Given the description of an element on the screen output the (x, y) to click on. 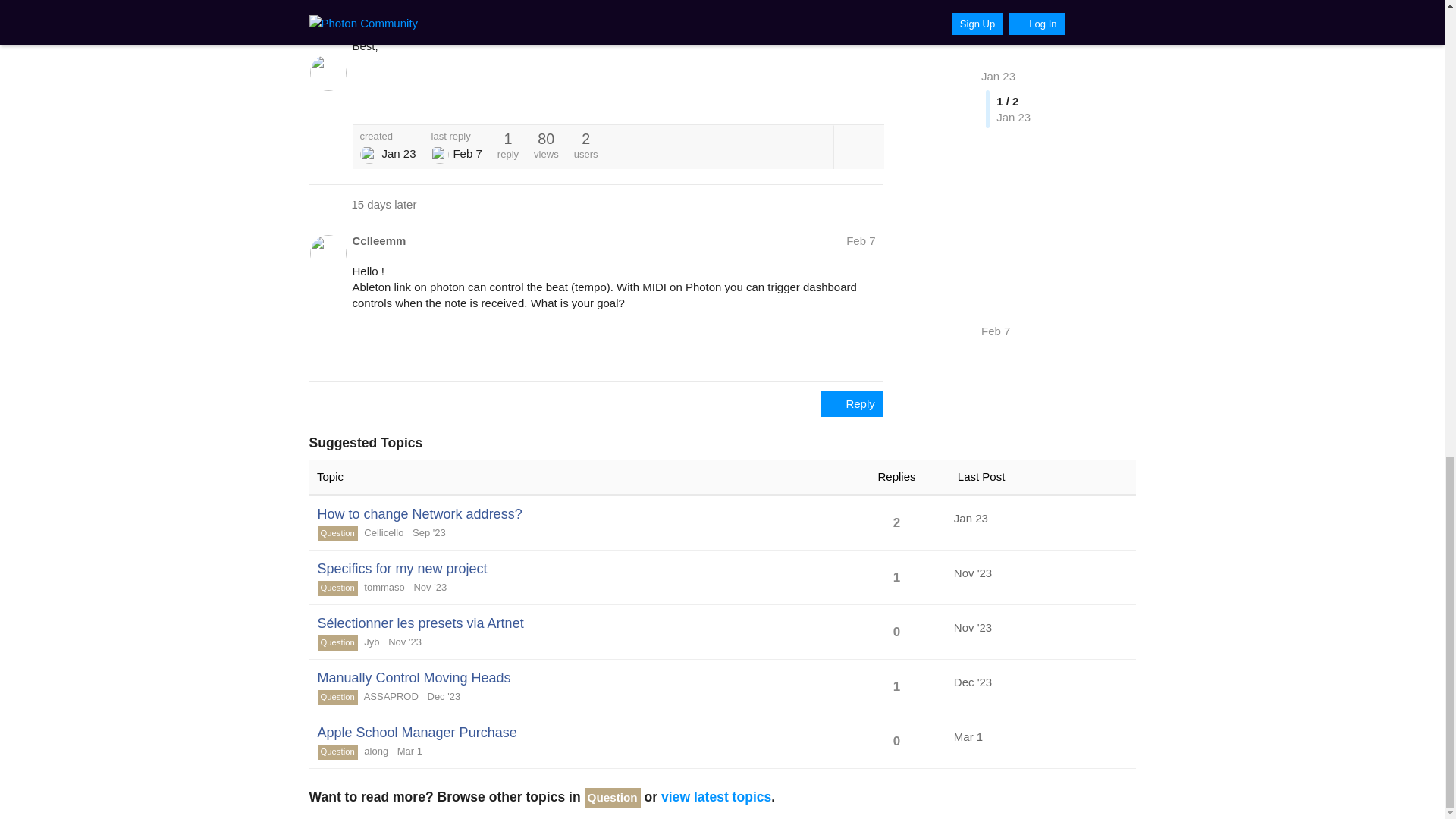
Question (336, 533)
Robin (368, 154)
like this post (836, 95)
Specifics for my new project (401, 568)
Feb 7 (860, 240)
How to change Network address? (419, 514)
share a link to this post (869, 95)
last reply (455, 135)
Reply (852, 403)
expand topic details (857, 146)
Sep '23 (425, 532)
Jan 23, 2024 11:31 am (397, 153)
Cellicello (383, 532)
Feb 7, 2024 8:54 pm (466, 153)
Jan 23 (970, 517)
